Given the description of an element on the screen output the (x, y) to click on. 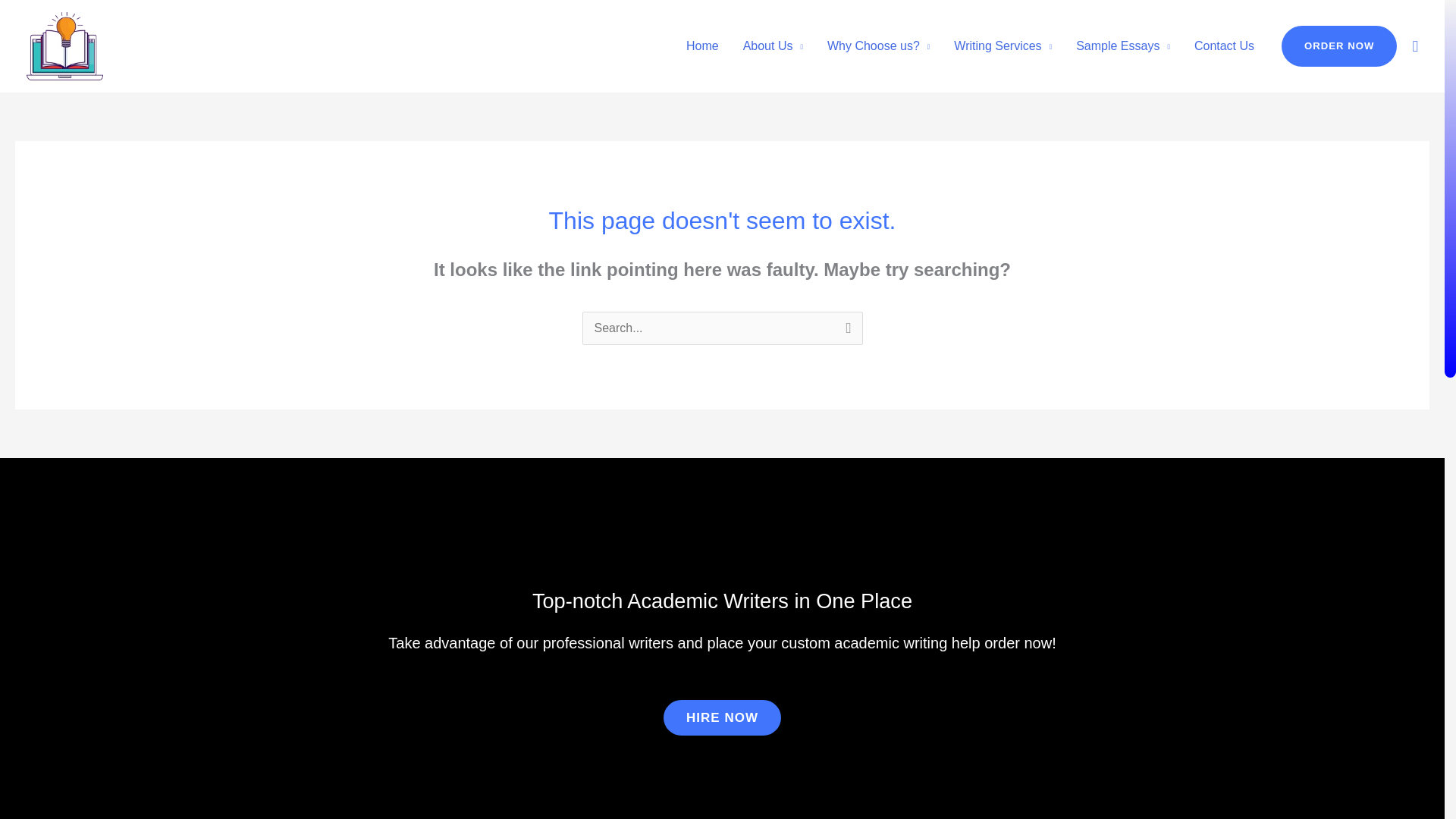
Writing Services (1003, 45)
Search (844, 330)
Sample Essays (1123, 45)
About Us (772, 45)
Home (702, 45)
Why Choose us? (878, 45)
Search (844, 330)
